Given the description of an element on the screen output the (x, y) to click on. 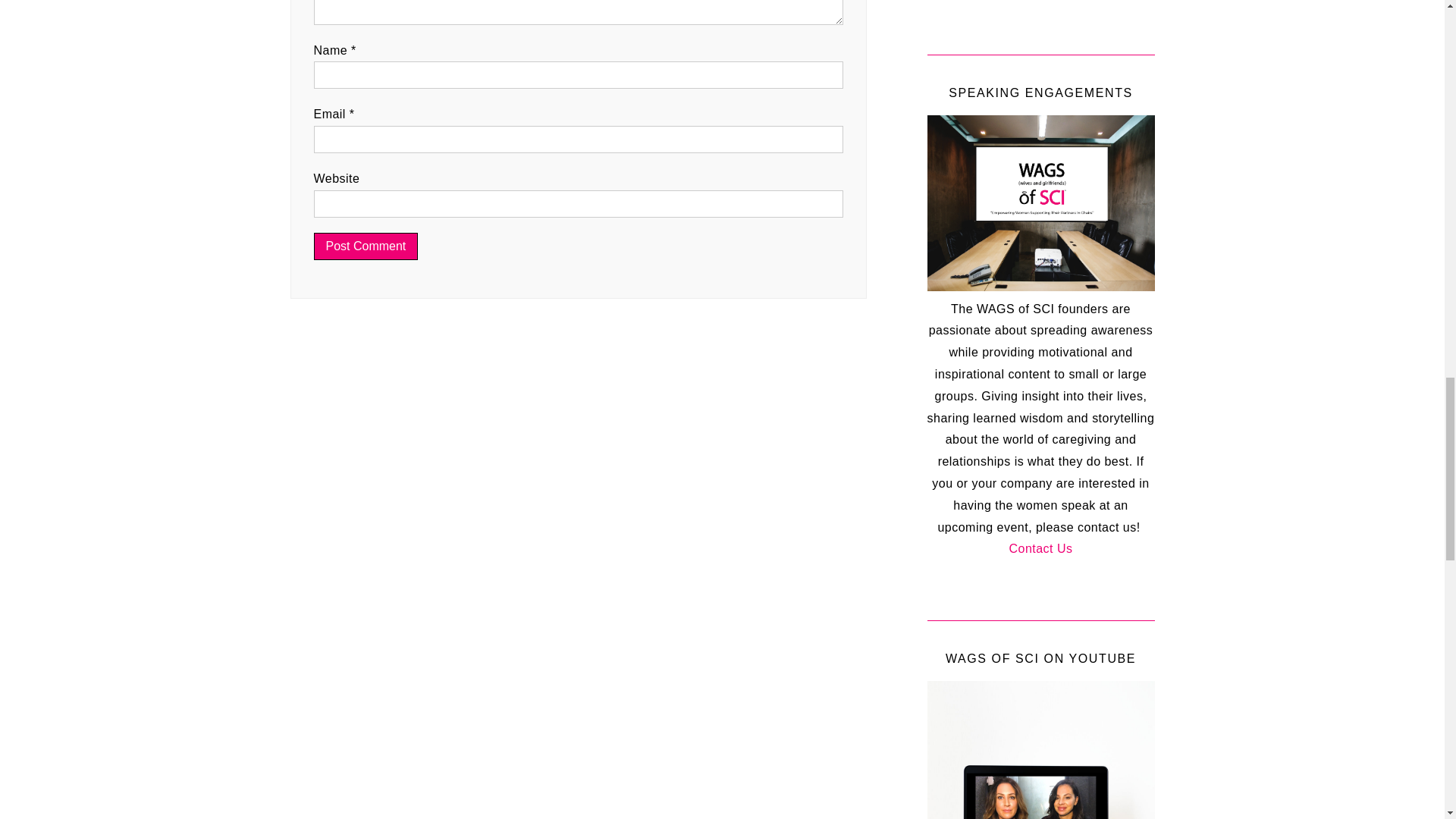
Post Comment (366, 246)
